Given the description of an element on the screen output the (x, y) to click on. 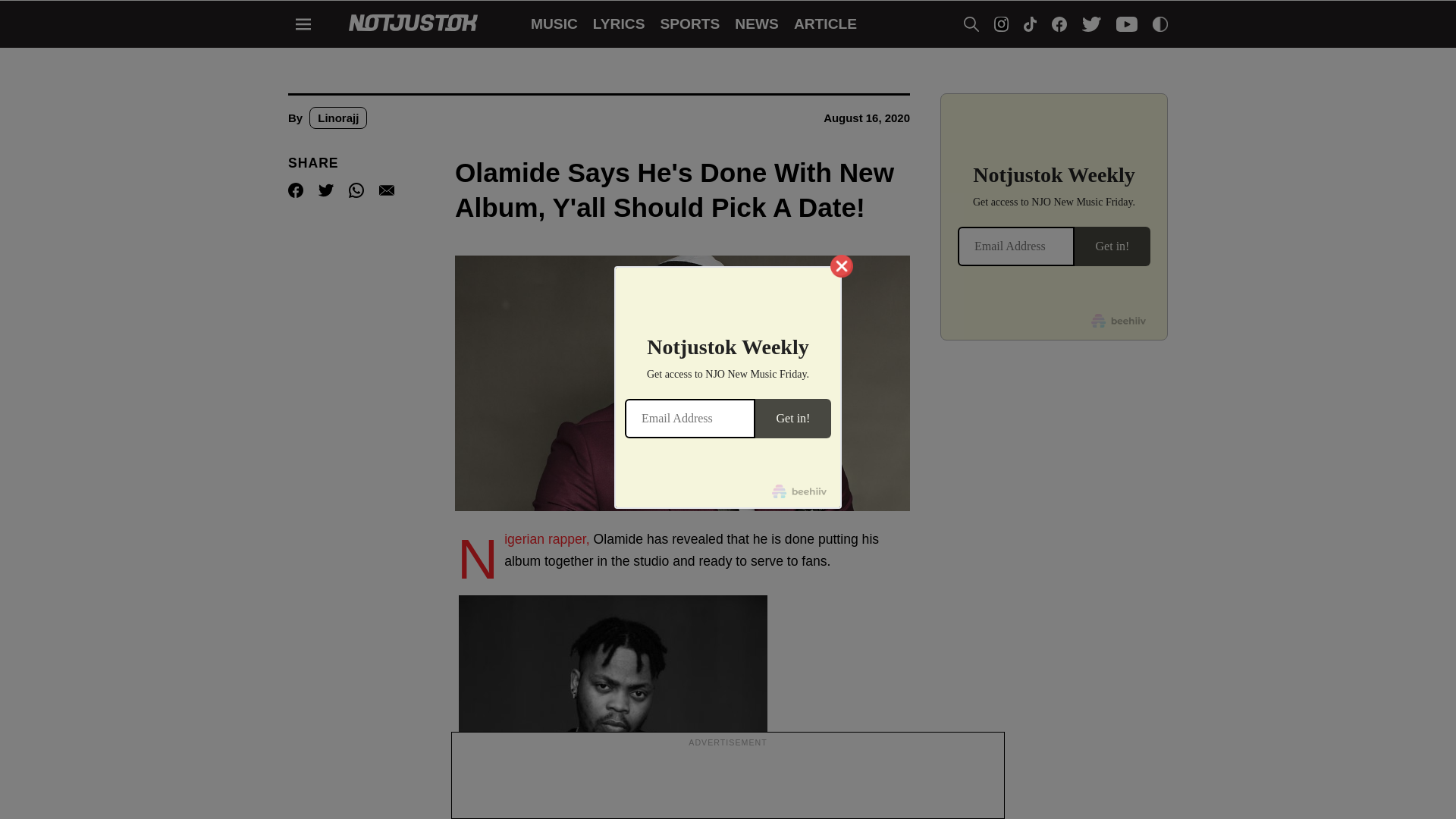
Nigerian rapper, (546, 539)
Linorajj (337, 117)
SPORTS (689, 23)
LYRICS (618, 23)
ARTICLE (825, 23)
NEWS (756, 23)
MUSIC (554, 23)
Posts by Linorajj (337, 117)
